Given the description of an element on the screen output the (x, y) to click on. 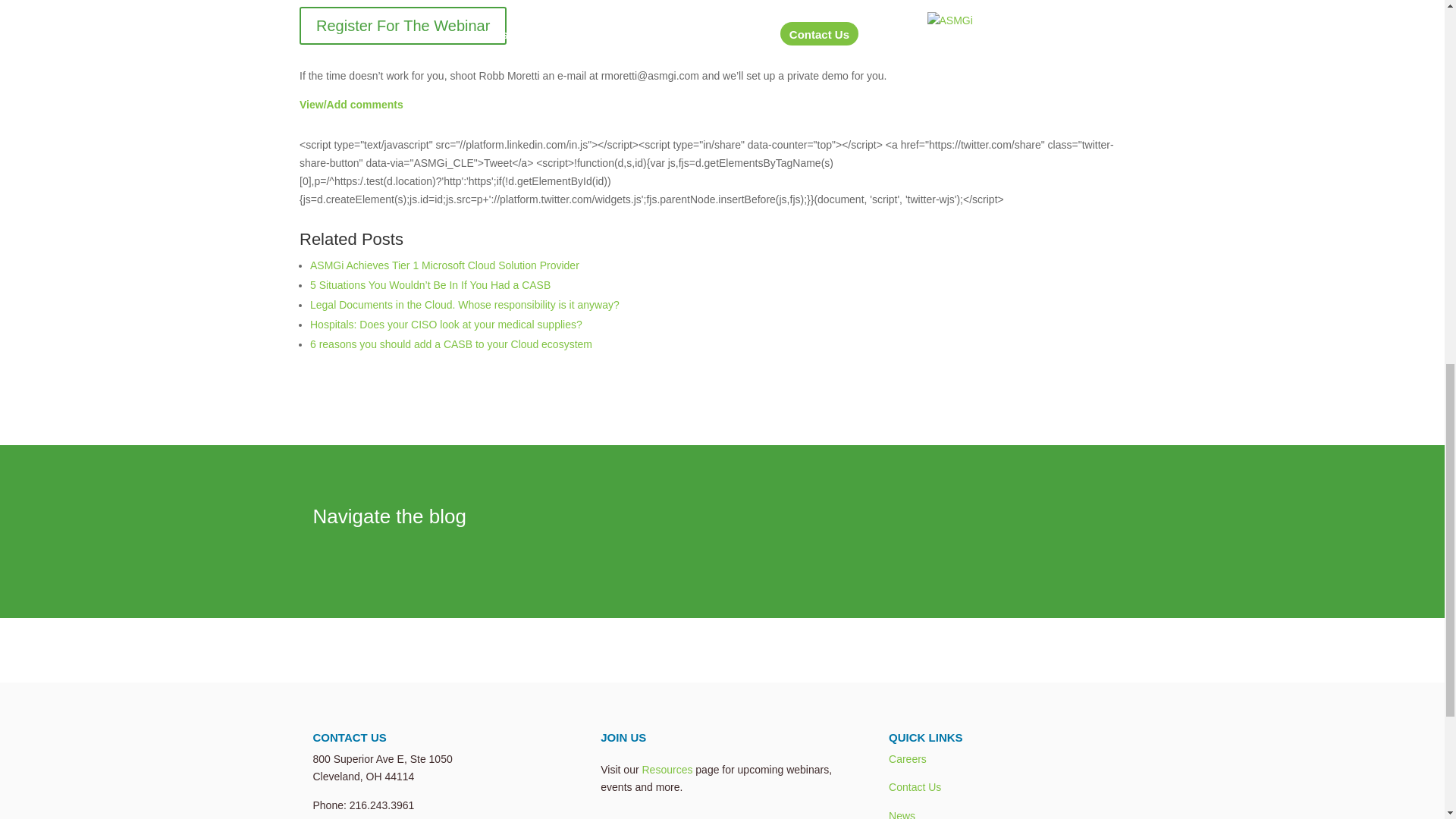
Careers (907, 758)
News (901, 814)
Resources (667, 769)
6 reasons you should add a CASB to your Cloud ecosystem (451, 344)
ASMGi Achieves Tier 1 Microsoft Cloud Solution Provider (444, 265)
Hospitals: Does your CISO look at your medical supplies? (446, 324)
Contact Us (914, 787)
Register For The Webinar (402, 25)
